Given the description of an element on the screen output the (x, y) to click on. 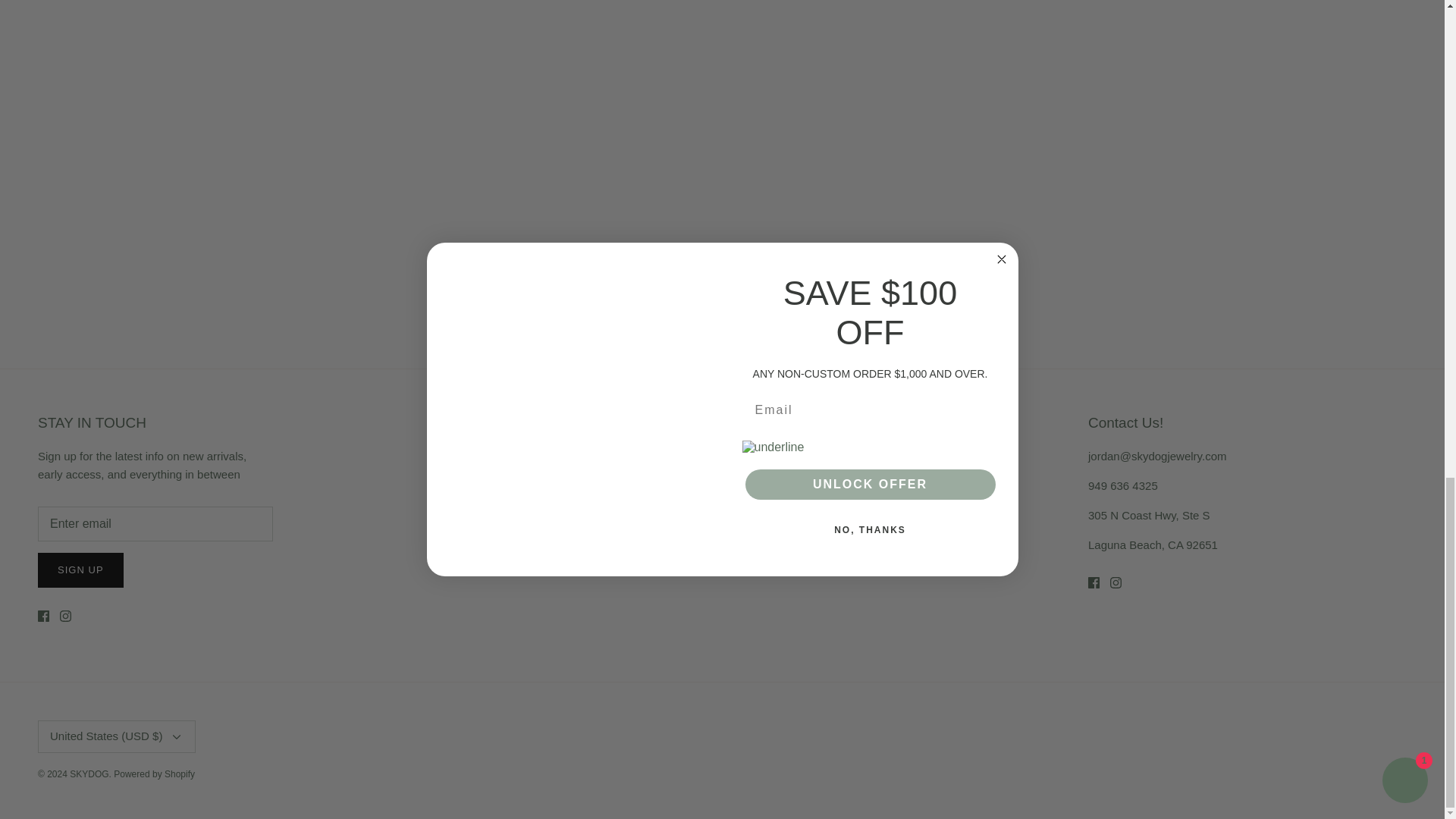
Facebook (43, 615)
Down (176, 736)
Instagram (1115, 582)
Instagram (65, 615)
Facebook (1093, 582)
